Given the description of an element on the screen output the (x, y) to click on. 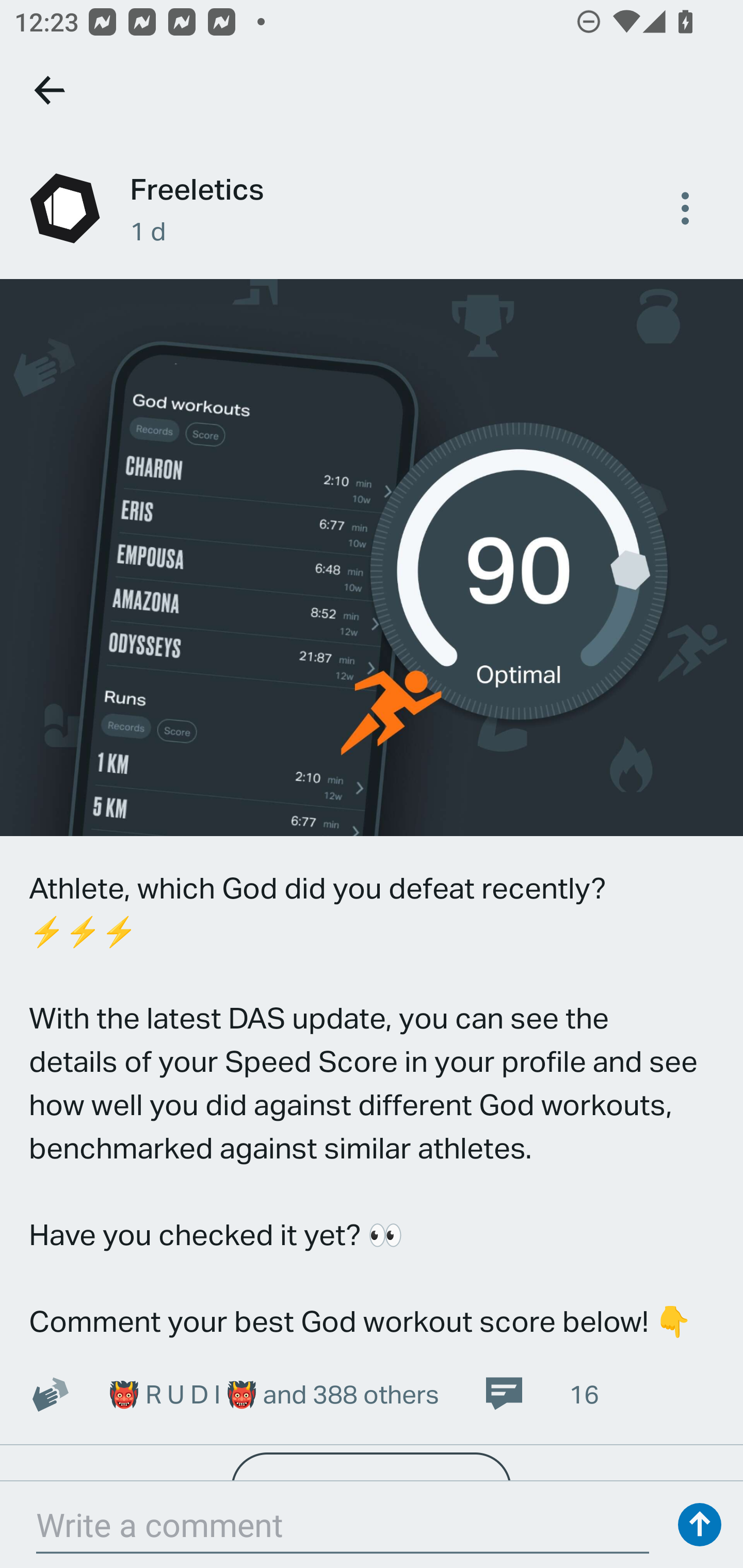
Go back (50, 90)
Freeletics  1 d (371, 208)
👹 R U D I 👹 and 388 others (273, 1393)
16 (540, 1393)
Write a comment (342, 1524)
Send (699, 1524)
